Given the description of an element on the screen output the (x, y) to click on. 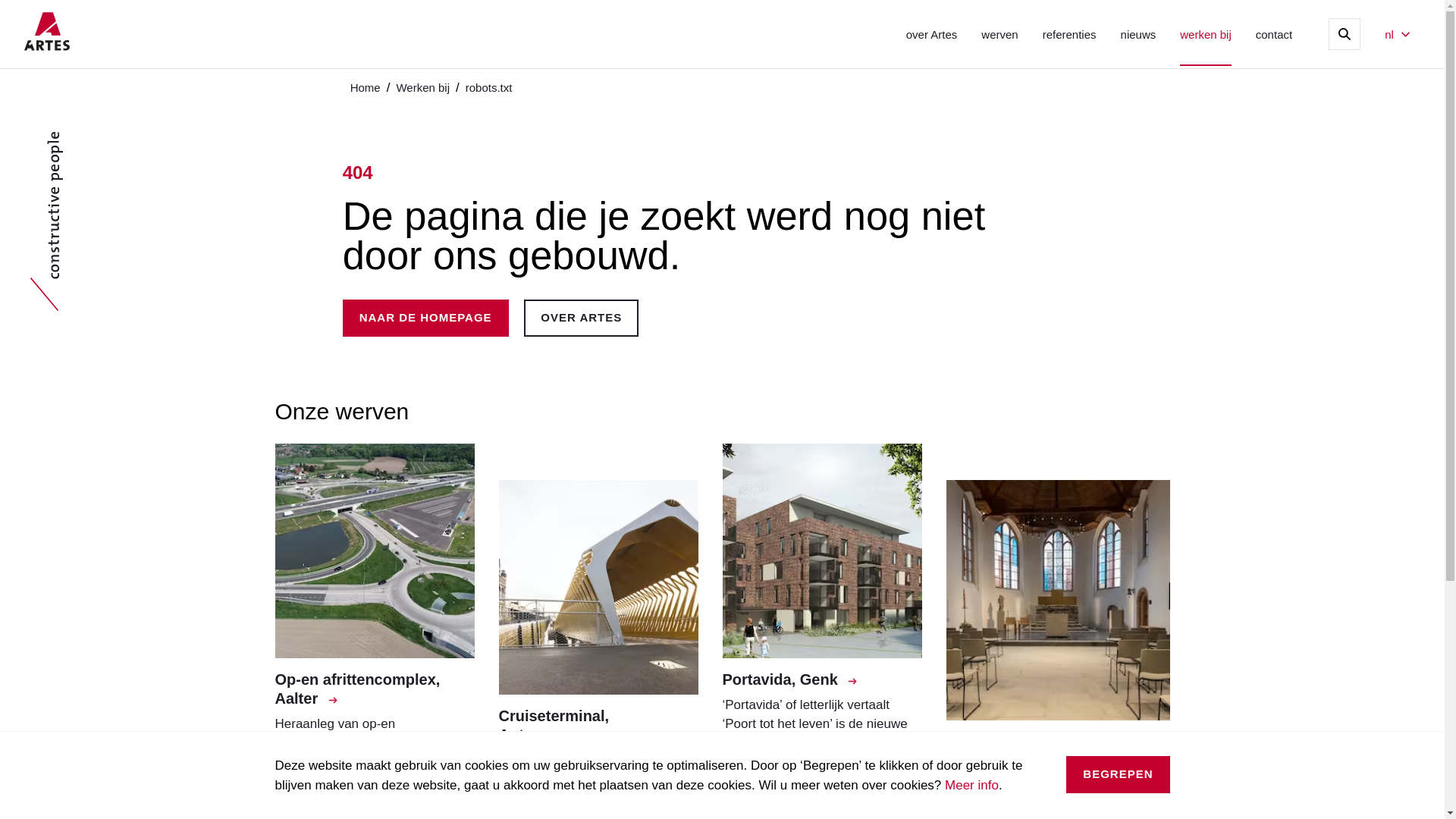
contact Element type: text (1273, 33)
Werken bij Element type: text (422, 87)
werken bij Element type: text (1205, 33)
Meer info Element type: text (971, 785)
referenties Element type: text (1069, 33)
over Artes Element type: text (931, 33)
robots.txt Element type: text (488, 87)
OVER ARTES Element type: text (581, 317)
BEGREPEN Element type: text (1117, 774)
werven Element type: text (999, 33)
NAAR DE HOMEPAGE Element type: text (425, 317)
Home Element type: text (365, 87)
nieuws Element type: text (1138, 33)
nl Element type: text (1396, 34)
